Given the description of an element on the screen output the (x, y) to click on. 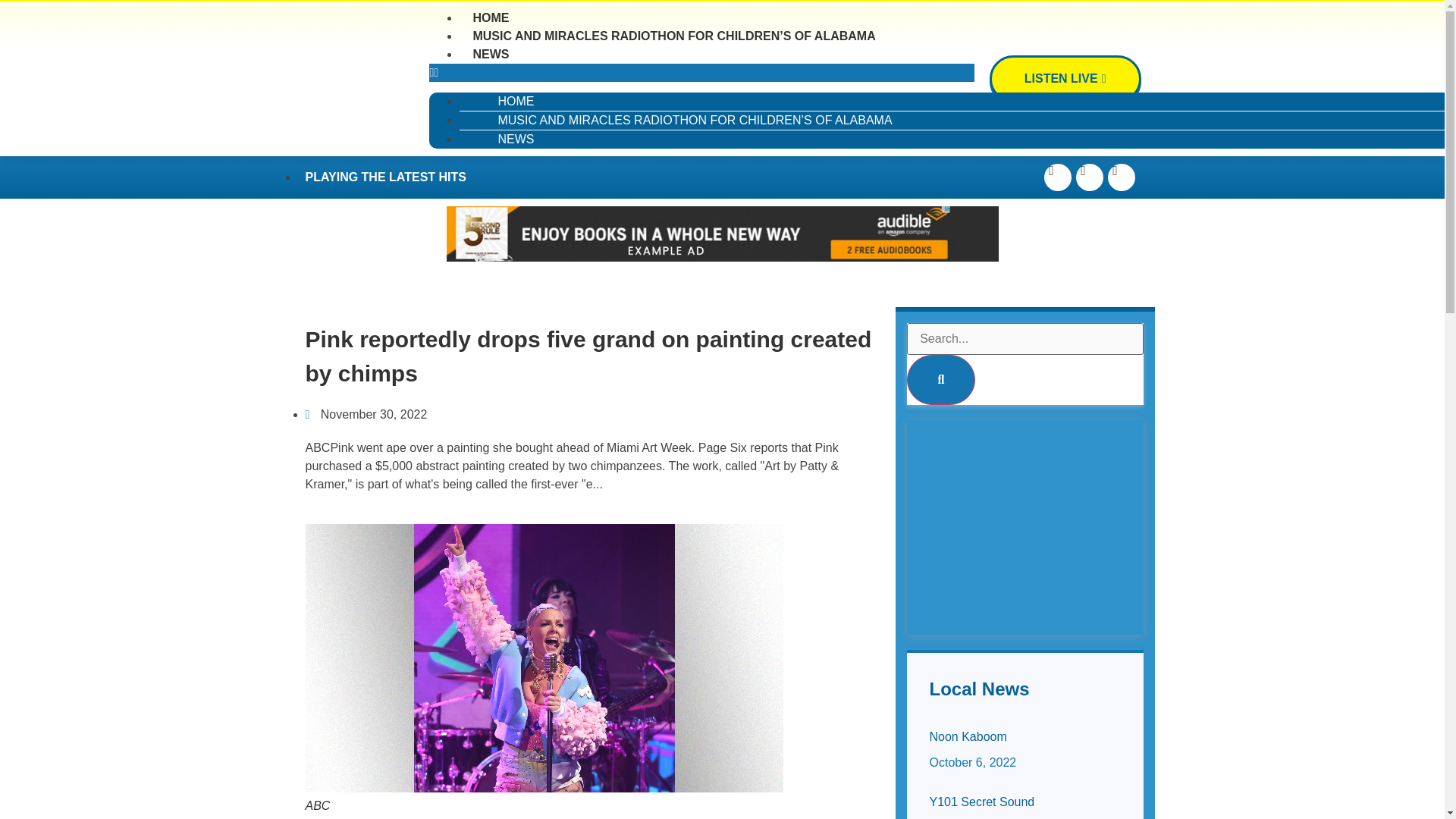
NEWS (490, 143)
HOME (516, 182)
HOME (490, 128)
Y101 Secret Sound (982, 801)
Noon Kaboom (968, 736)
NEWS (516, 201)
LISTEN LIVE (1072, 80)
November 30, 2022 (365, 444)
